Given the description of an element on the screen output the (x, y) to click on. 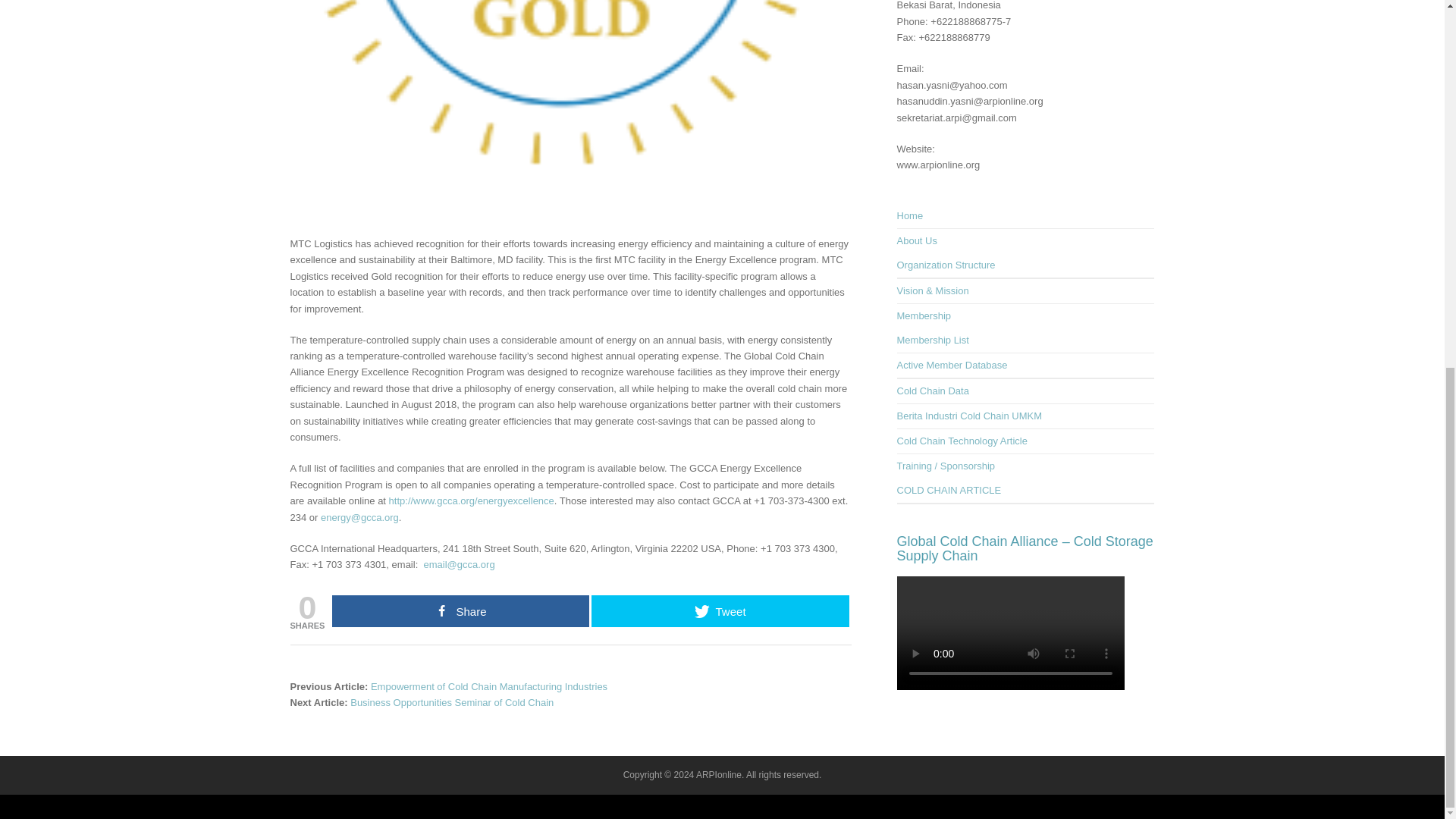
Empowerment of Cold Chain Manufacturing Industries (489, 686)
About Us (916, 240)
Active Member Database (951, 365)
Cold Chain Data (932, 390)
Membership List (932, 339)
Business Opportunities Seminar of Cold Chain (451, 702)
Organization Structure (945, 265)
Tweet (719, 611)
Share (460, 611)
Home (909, 215)
Membership (923, 315)
